Given the description of an element on the screen output the (x, y) to click on. 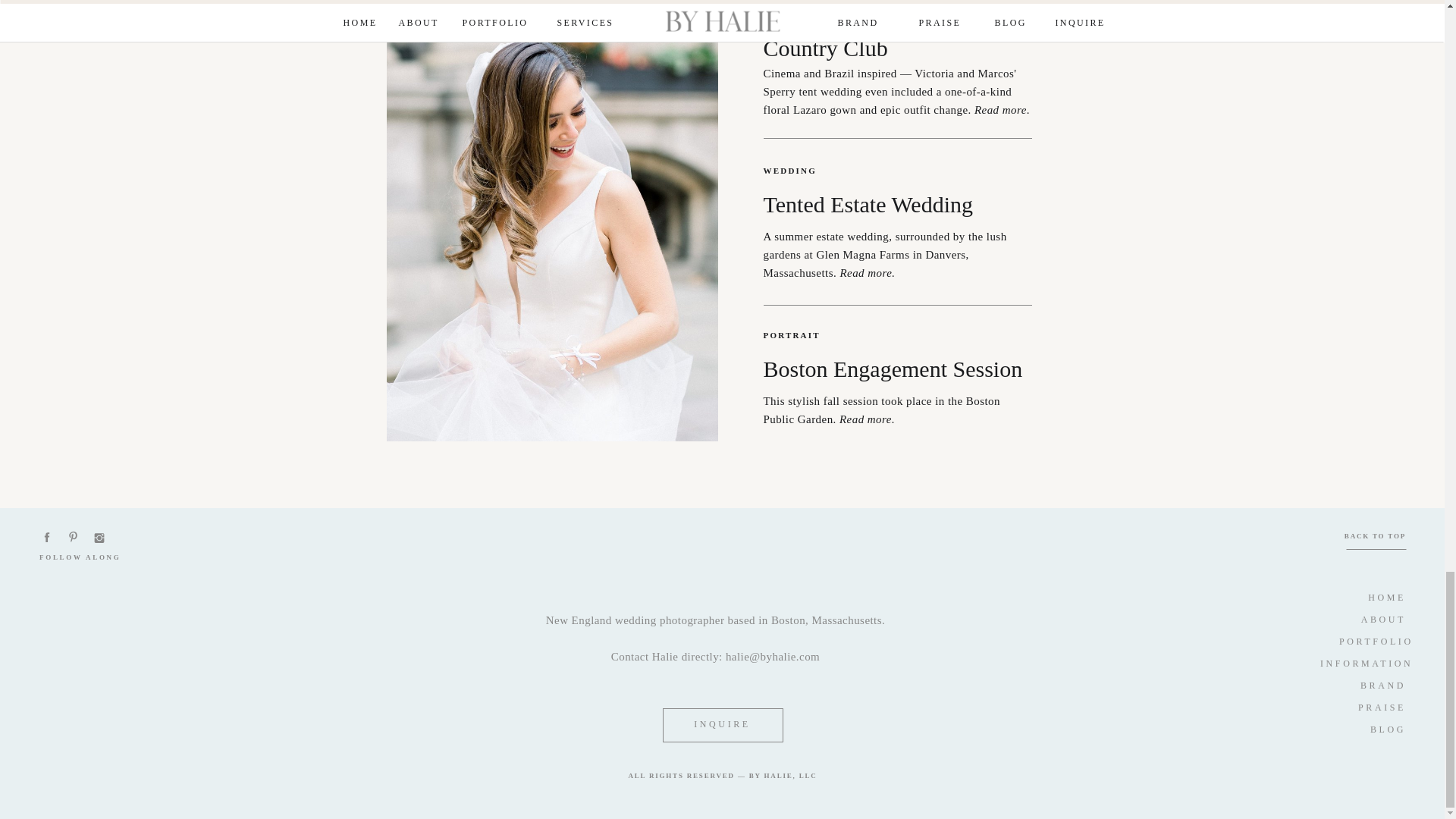
WEDDING (805, 171)
Wentworth by the Sea Country Club (886, 21)
Tented Estate Wedding (910, 207)
